Given the description of an element on the screen output the (x, y) to click on. 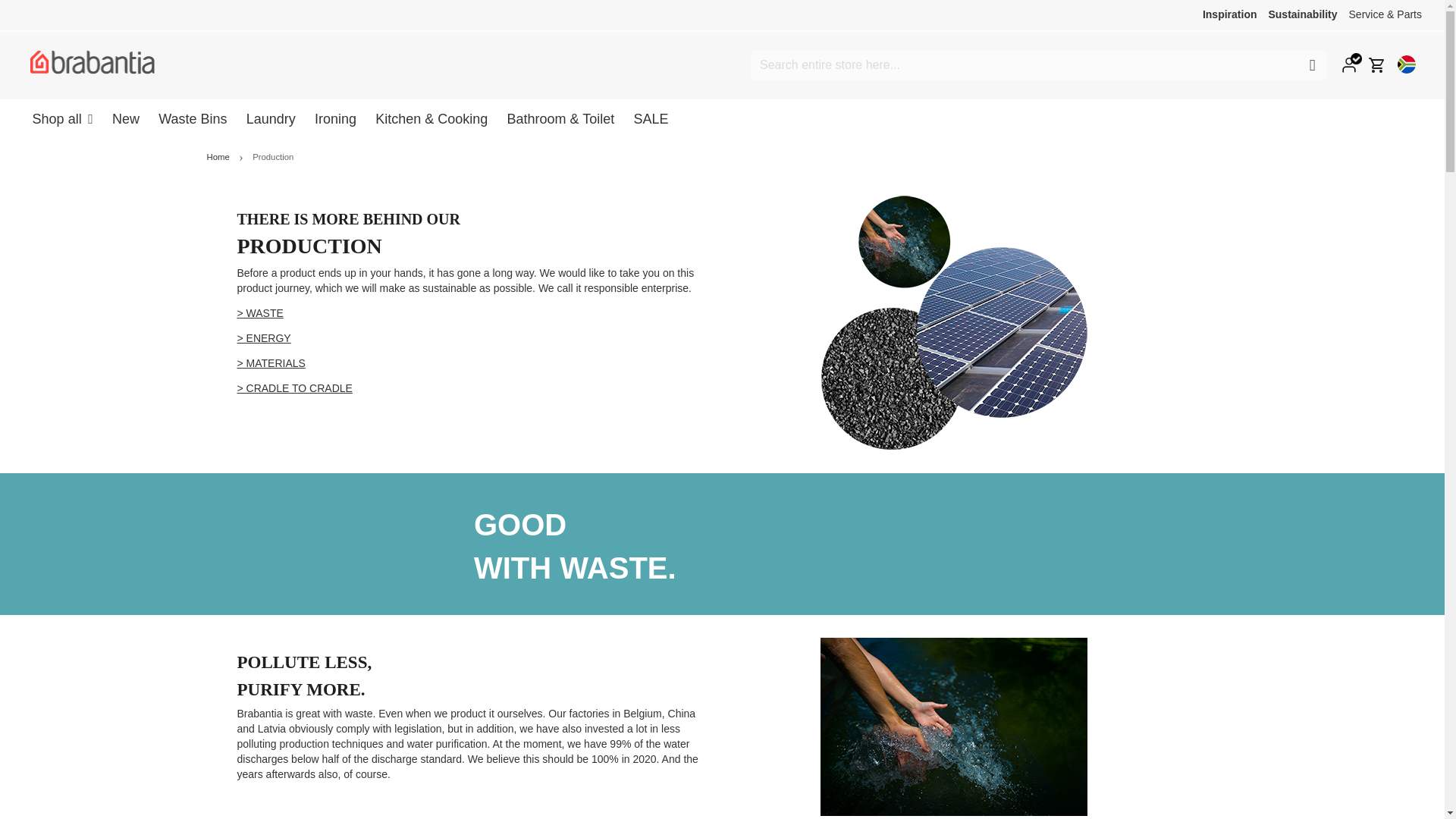
Sustainability (1302, 14)
waste (258, 313)
Inspiration (1229, 14)
Shop all (62, 118)
My Cart (1377, 64)
Go to Home Page (218, 156)
